Given the description of an element on the screen output the (x, y) to click on. 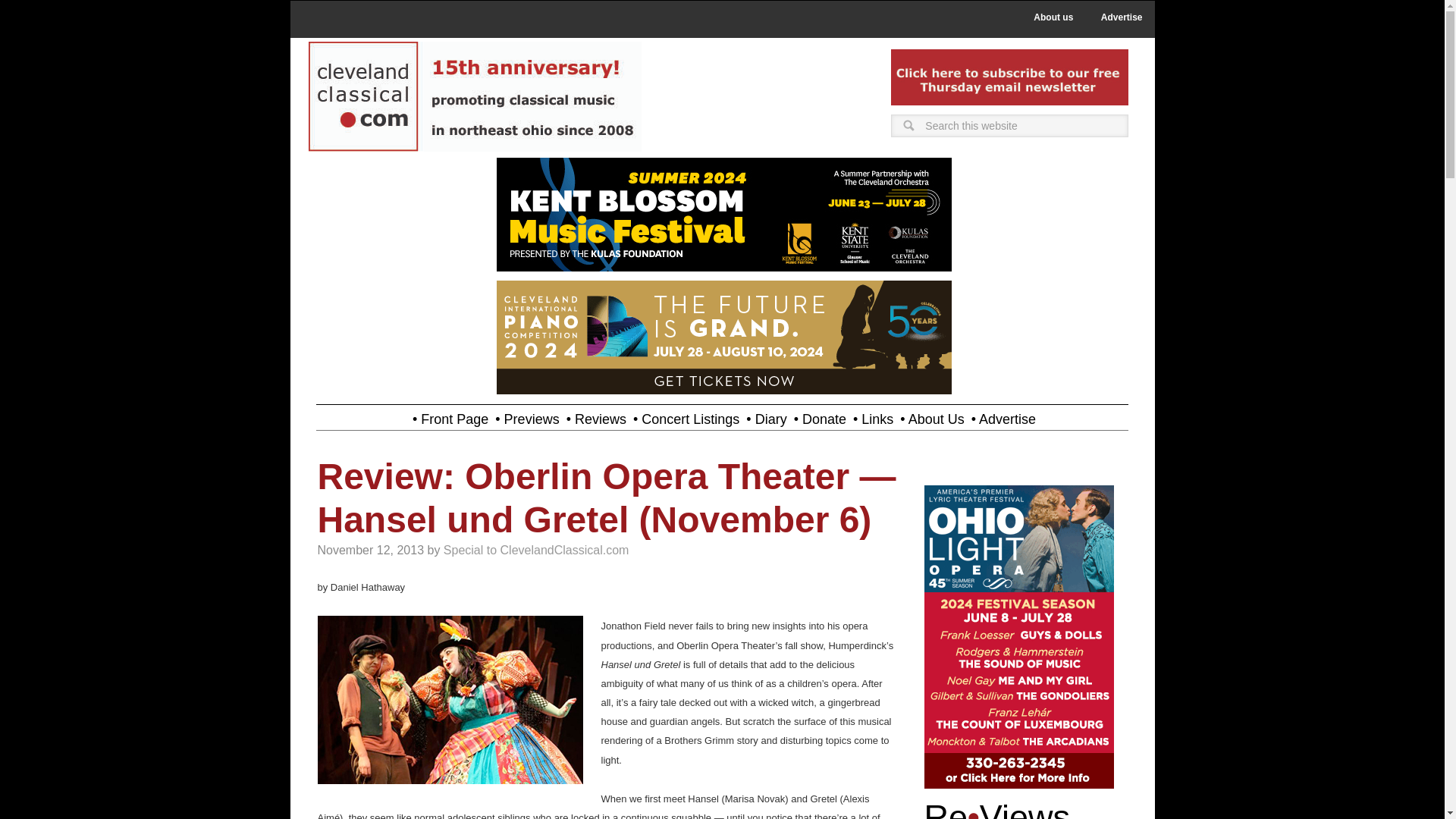
Special to ClevelandClassical.com (536, 549)
About us (1053, 17)
Advertise (1121, 17)
